Given the description of an element on the screen output the (x, y) to click on. 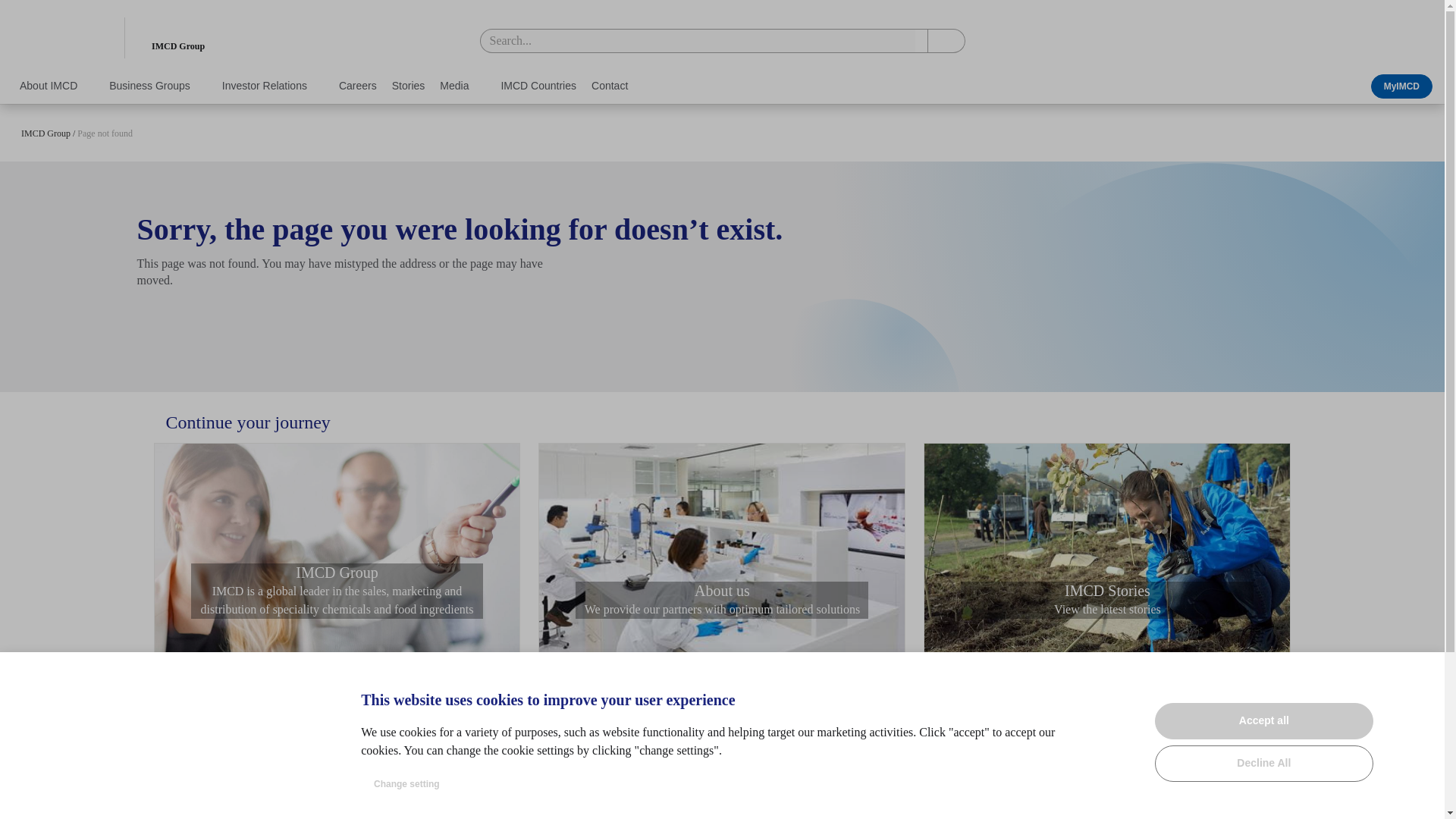
IMCD Group (143, 794)
Settings (1421, 675)
Search (946, 40)
Contact (608, 85)
Global Expertise (406, 777)
Sustainability (400, 817)
Advanced Materials (647, 755)
Contact (608, 85)
Stories (408, 85)
Business Groups (157, 85)
